Given the description of an element on the screen output the (x, y) to click on. 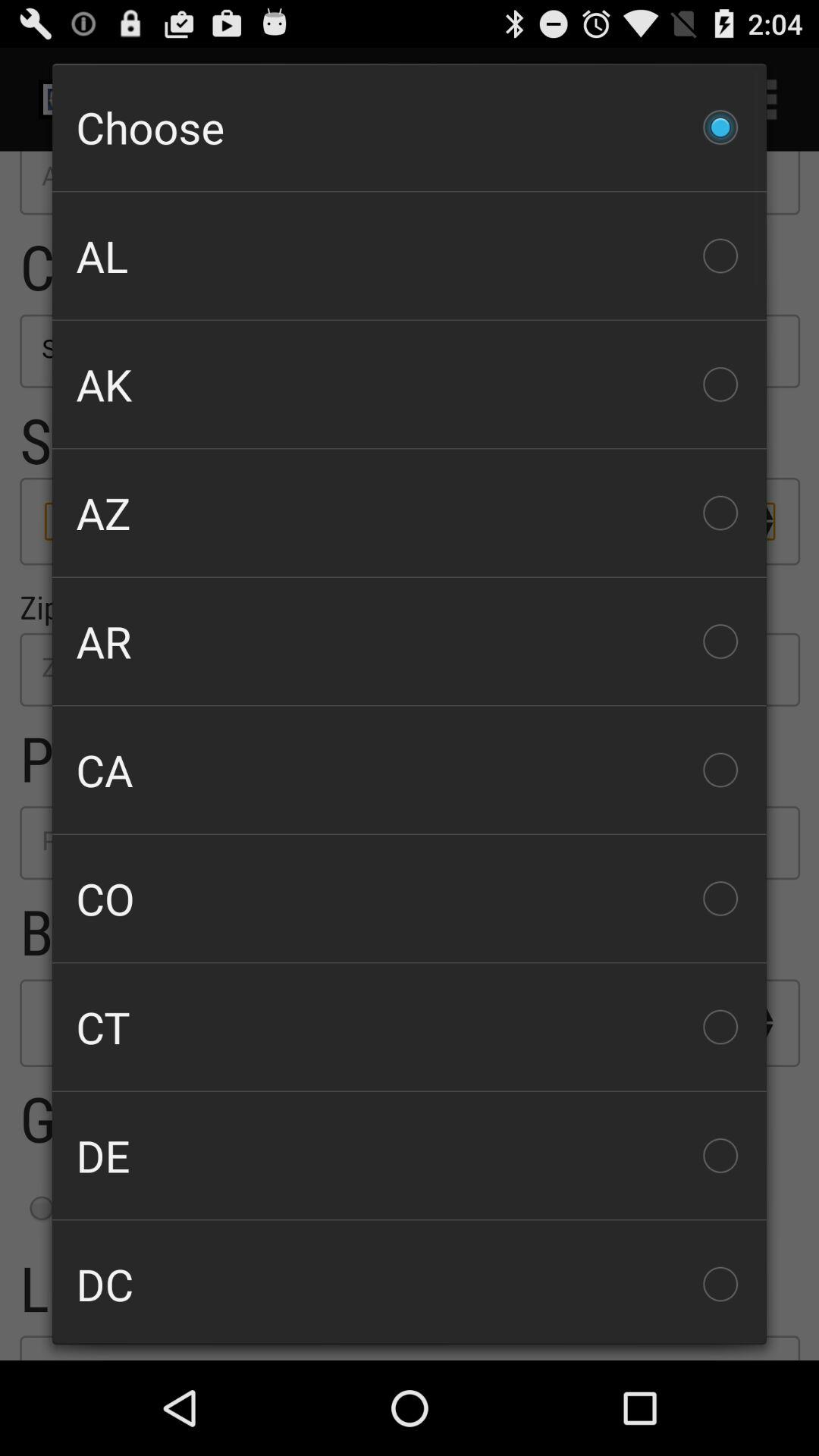
swipe until dc item (409, 1282)
